Given the description of an element on the screen output the (x, y) to click on. 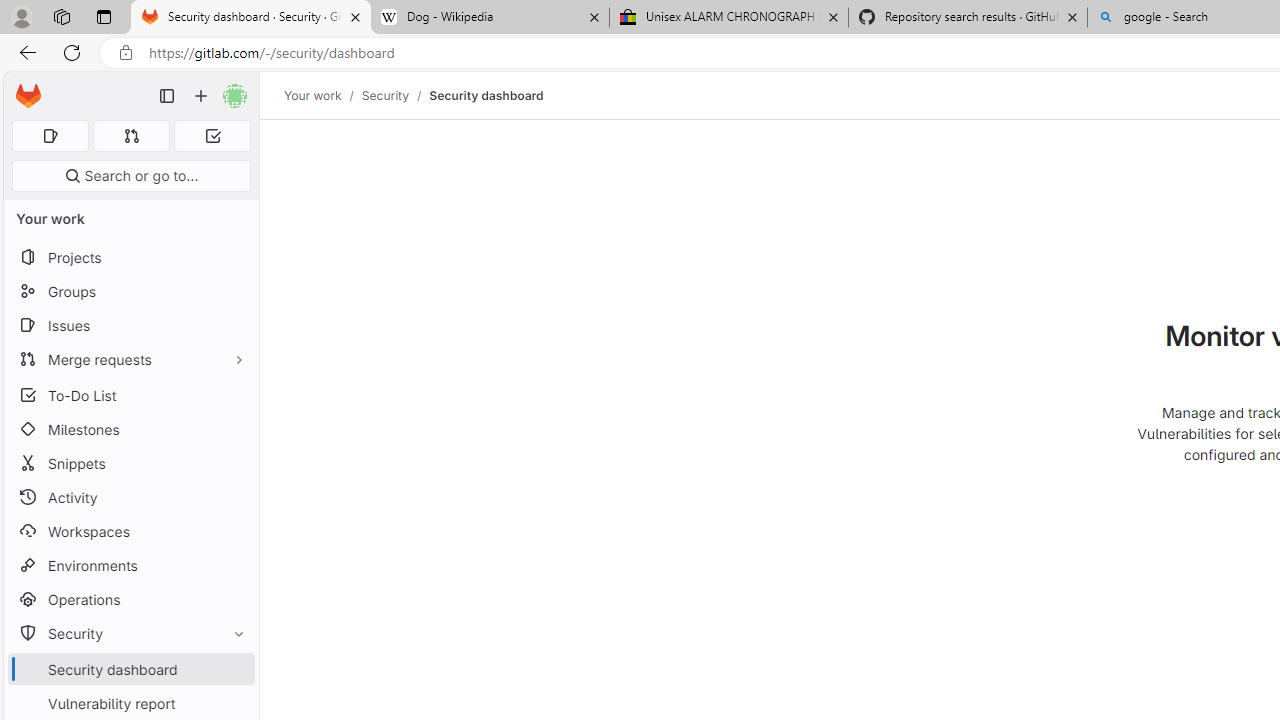
Dog - Wikipedia (490, 17)
Vulnerability report (130, 703)
Your work (312, 95)
Milestones (130, 429)
